Given the description of an element on the screen output the (x, y) to click on. 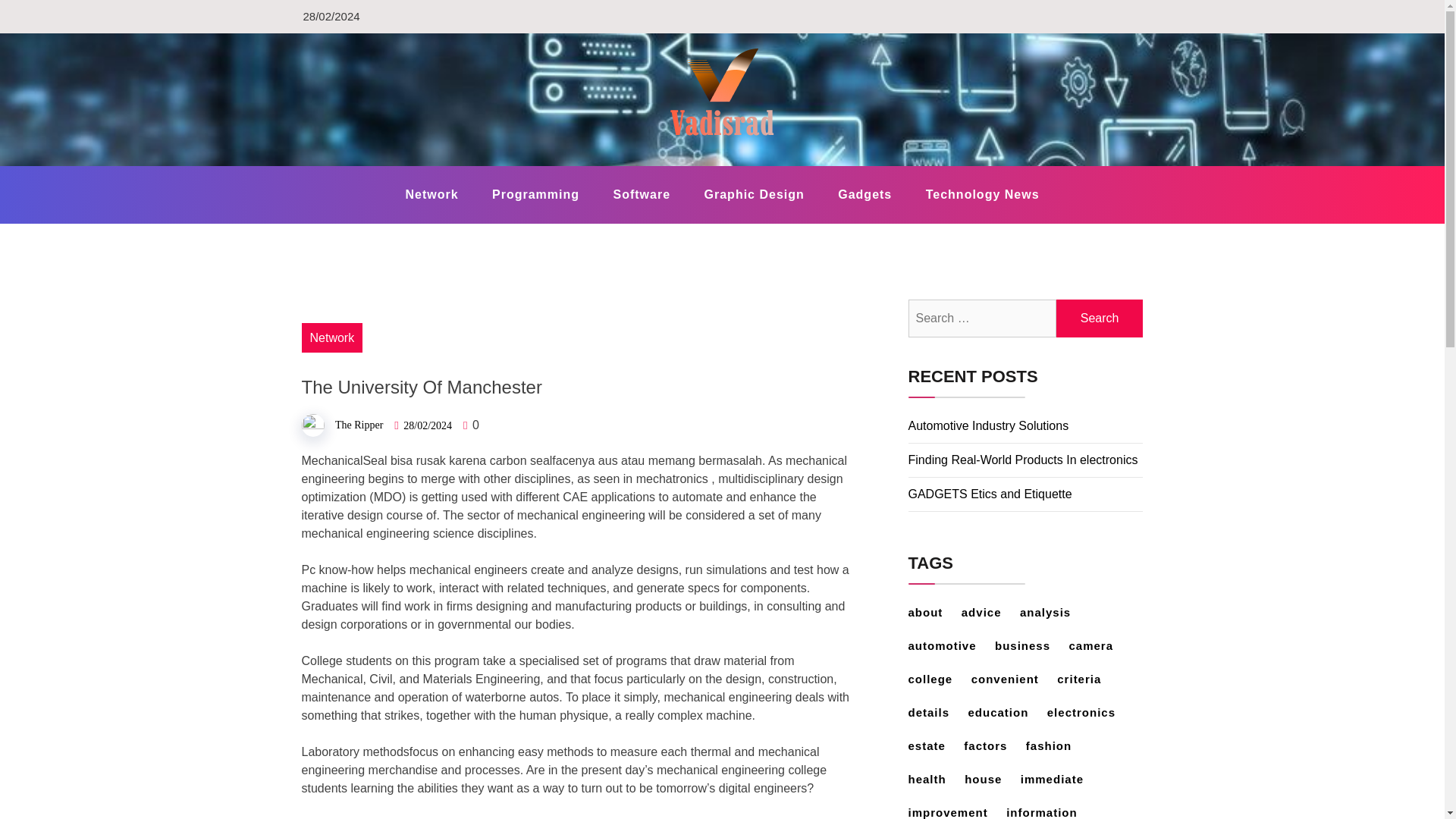
Search (1099, 318)
Graphic Design (753, 194)
Technology News (982, 194)
criteria (1086, 678)
analysis (1053, 612)
VDSR (339, 164)
automotive (949, 645)
advice (988, 612)
GADGETS Etics and Etiquette (989, 493)
convenient (1012, 678)
Finding Real-World Products In electronics (1023, 459)
details (936, 712)
college (938, 678)
Programming (535, 194)
Automotive Industry Solutions (988, 425)
